Given the description of an element on the screen output the (x, y) to click on. 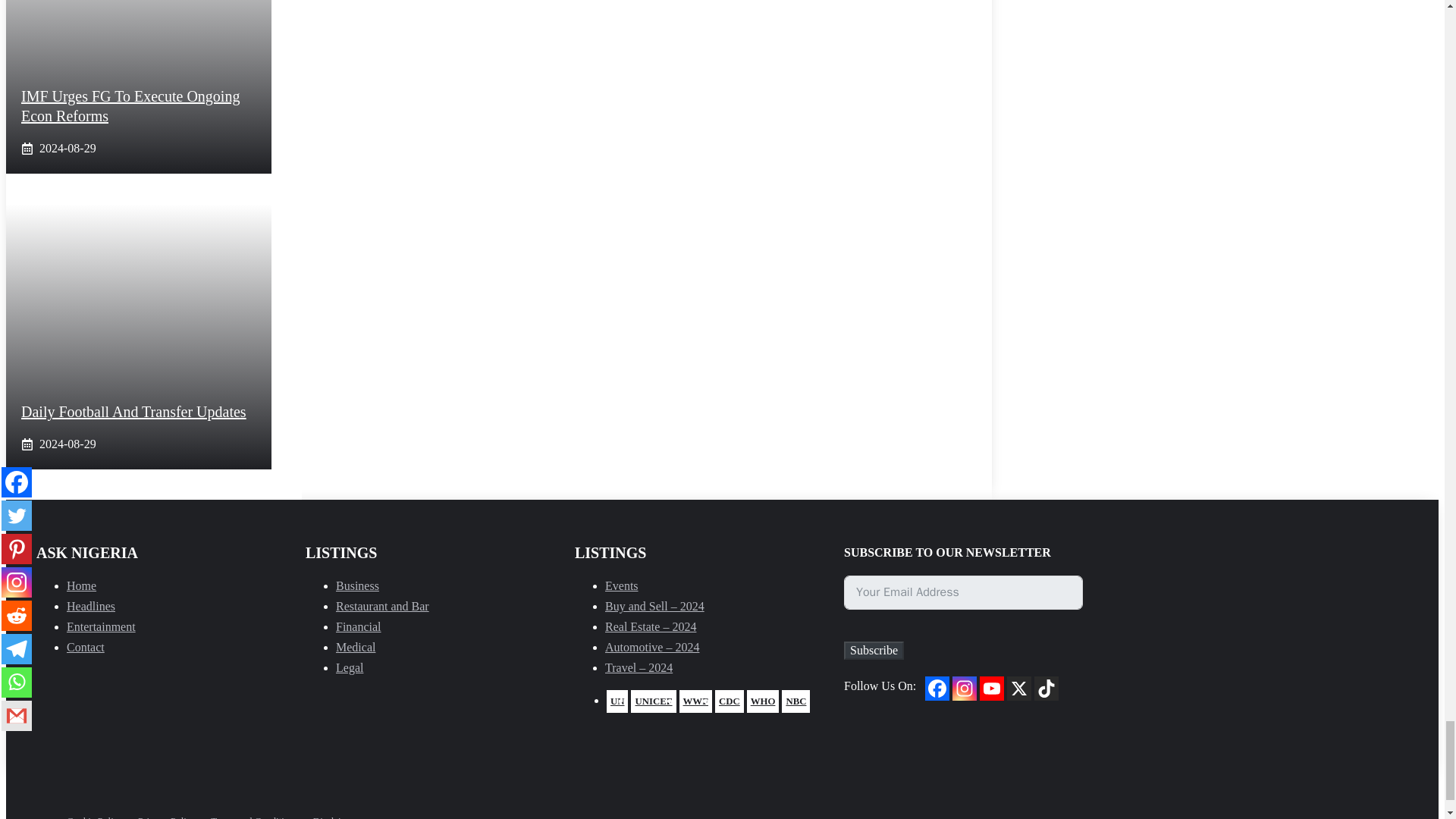
Instagram (964, 688)
Facebook (936, 688)
Youtube channel (991, 688)
